Given the description of an element on the screen output the (x, y) to click on. 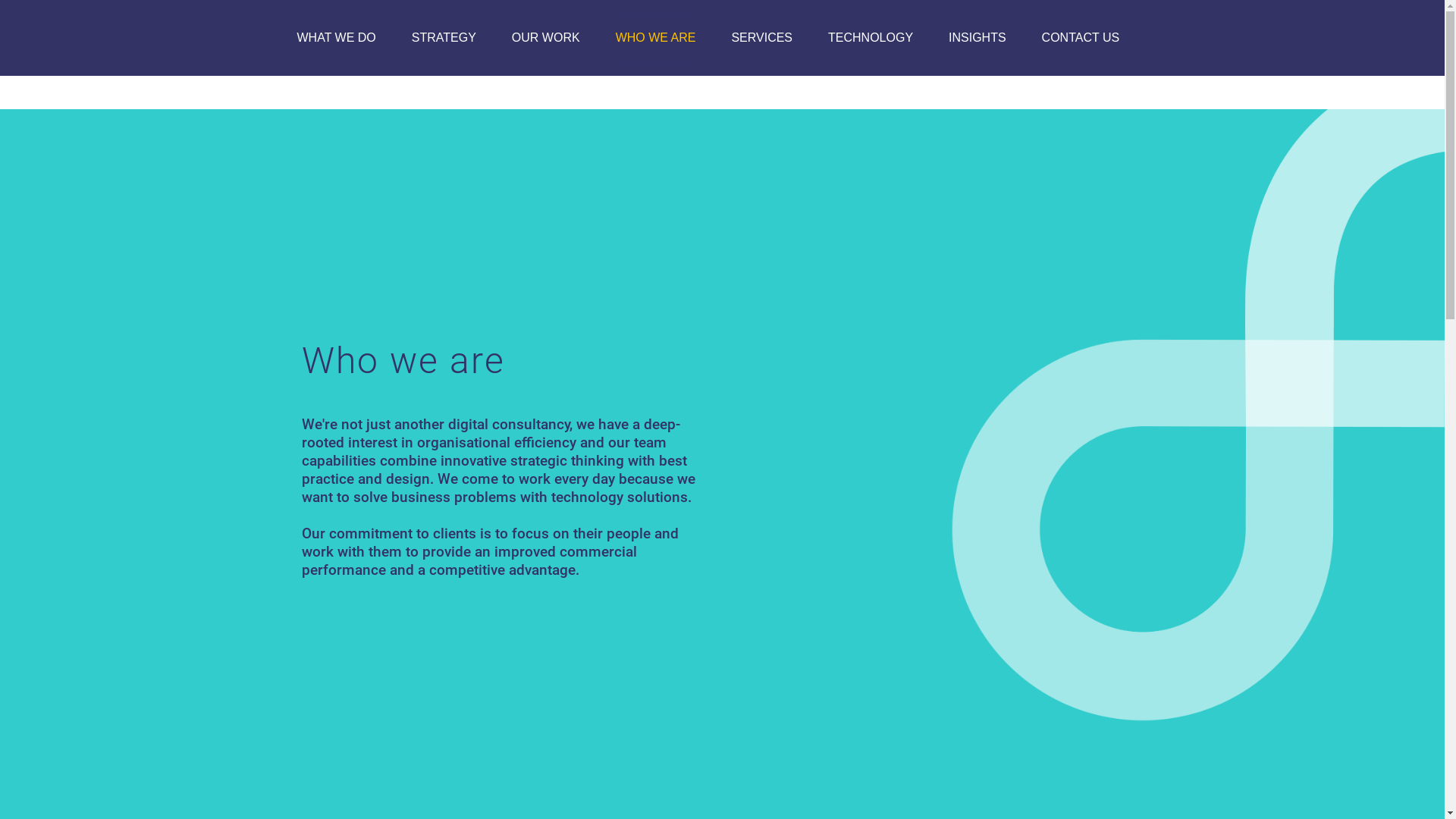
WHO WE ARE Element type: text (655, 37)
STRATEGY Element type: text (443, 37)
OUR WORK Element type: text (545, 37)
WHAT WE DO Element type: text (336, 37)
SERVICES Element type: text (761, 37)
TECHNOLOGY Element type: text (870, 37)
CONTACT US Element type: text (1080, 37)
INSIGHTS Element type: text (977, 37)
